Given the description of an element on the screen output the (x, y) to click on. 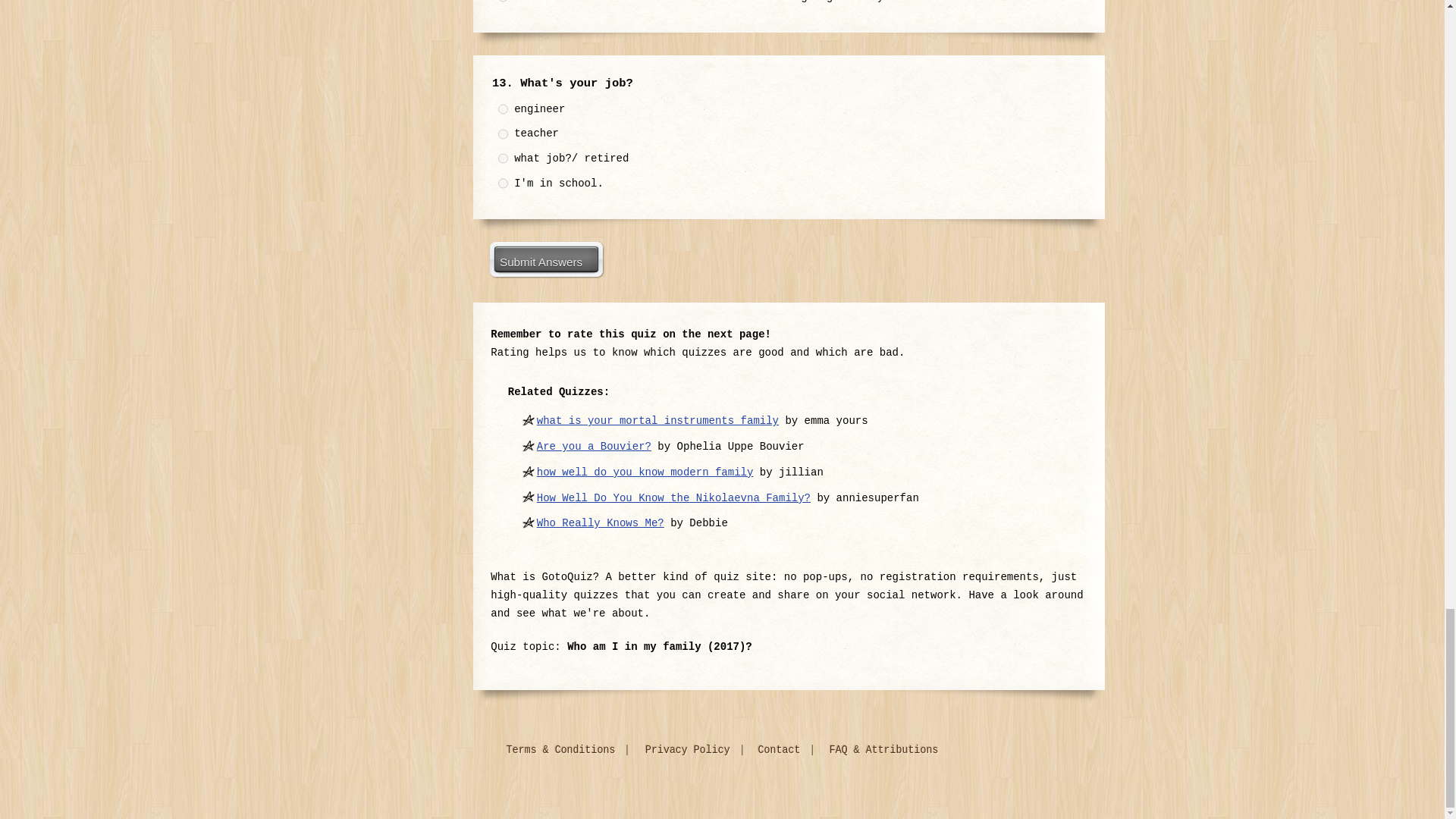
how well do you know modern family (645, 472)
Are you a Bouvier? (593, 446)
Submit Answers (545, 258)
Who Really Knows Me? (600, 522)
Privacy Policy (690, 750)
How Well Do You Know the Nikolaevna Family? (673, 498)
what is your mortal instruments family (657, 420)
Contact (780, 750)
